Given the description of an element on the screen output the (x, y) to click on. 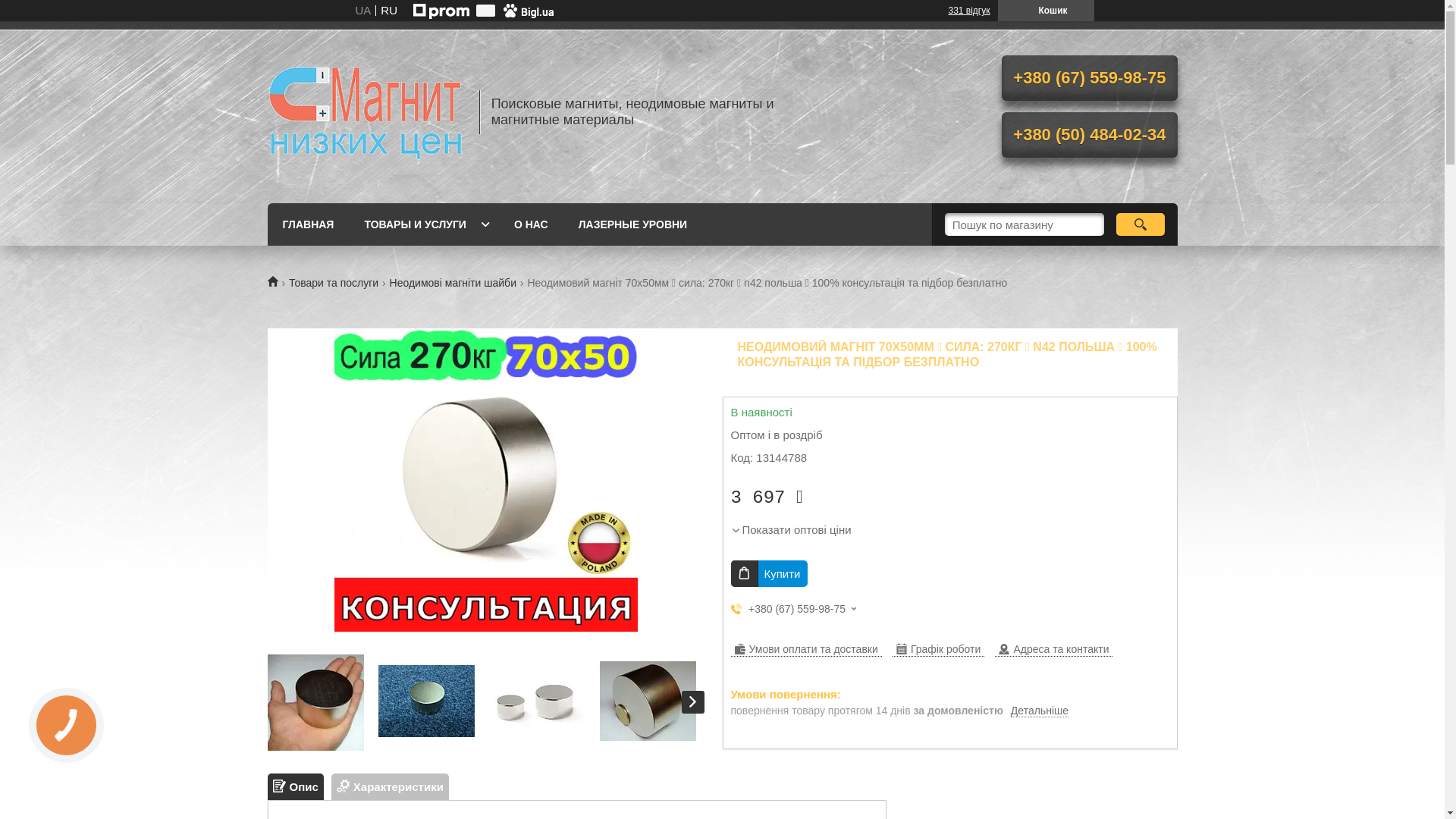
UA Element type: text (362, 10)
RU Element type: text (388, 10)
